Given the description of an element on the screen output the (x, y) to click on. 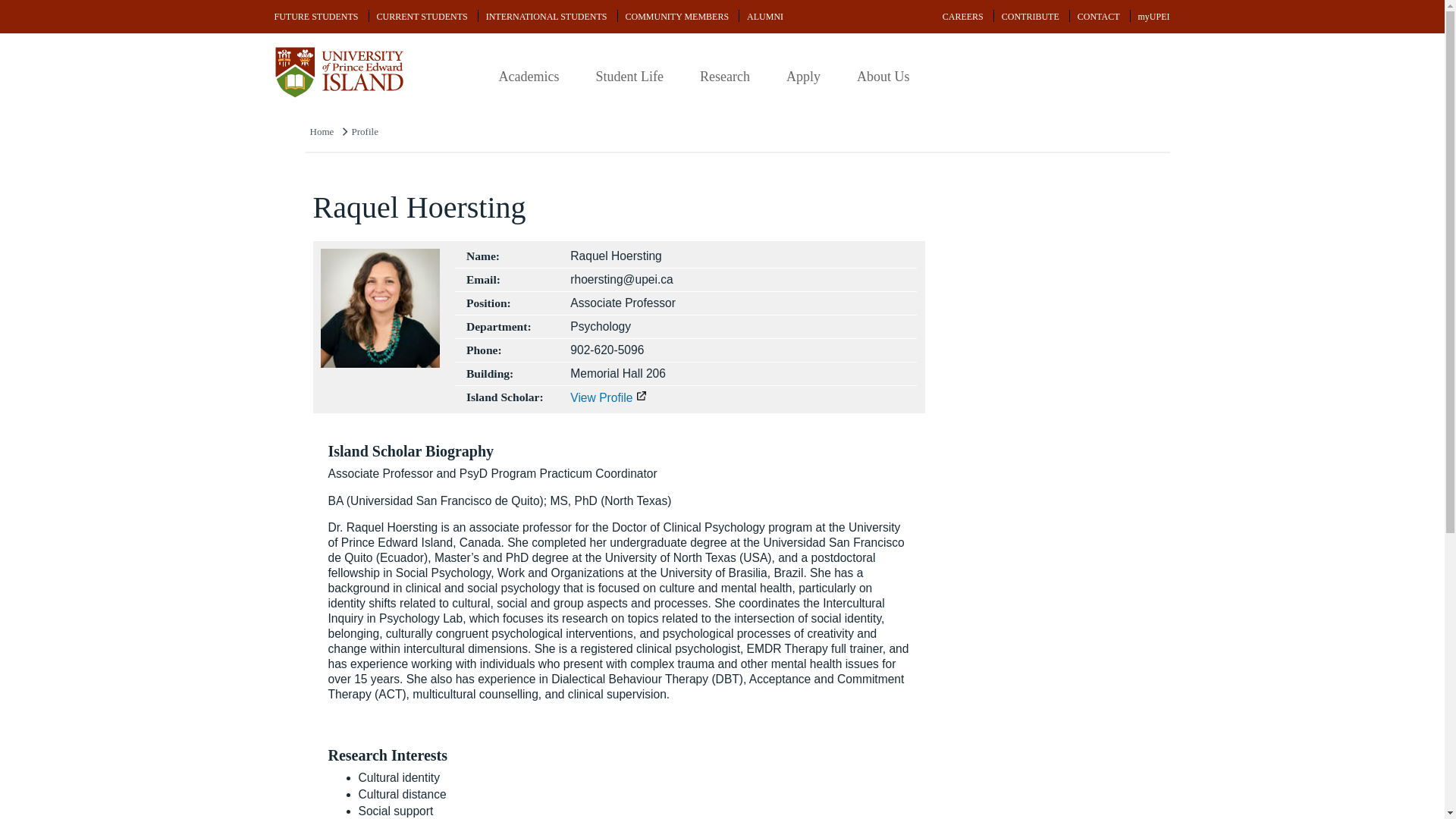
CONTACT (1098, 16)
CONTRIBUTE (1030, 16)
CAREERS (962, 16)
ALUMNI (764, 16)
FUTURE STUDENTS (316, 16)
INTERNATIONAL STUDENTS (546, 16)
COMMUNITY MEMBERS (676, 16)
myUPEI (1152, 16)
CURRENT STUDENTS (422, 16)
